Given the description of an element on the screen output the (x, y) to click on. 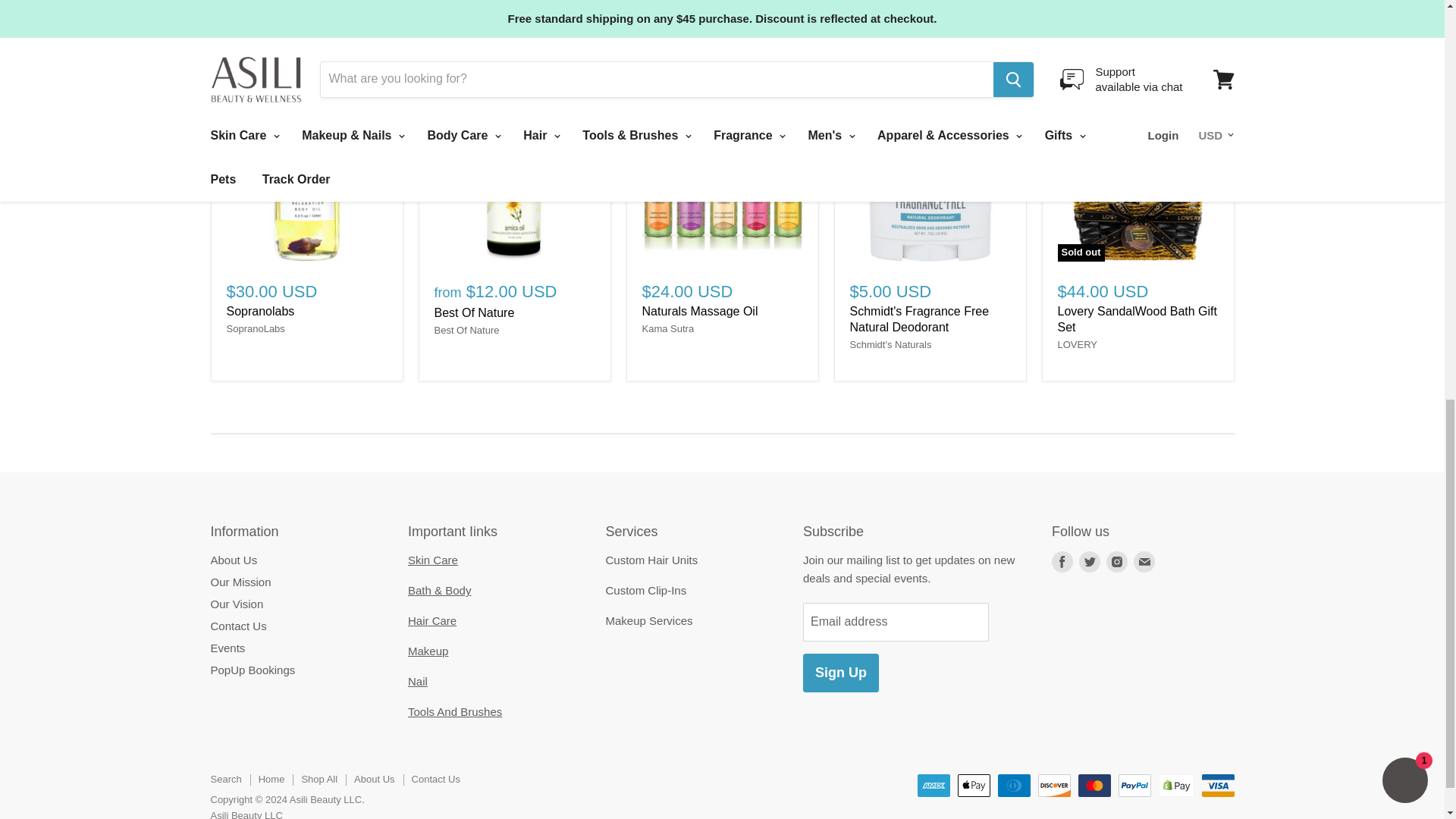
Facebook (1061, 561)
Skin Care (432, 559)
Bath and Body (438, 590)
Hair (432, 620)
Nail (417, 680)
Twitter (1089, 561)
Makeup (427, 650)
Tools and Brushes (454, 711)
